Given the description of an element on the screen output the (x, y) to click on. 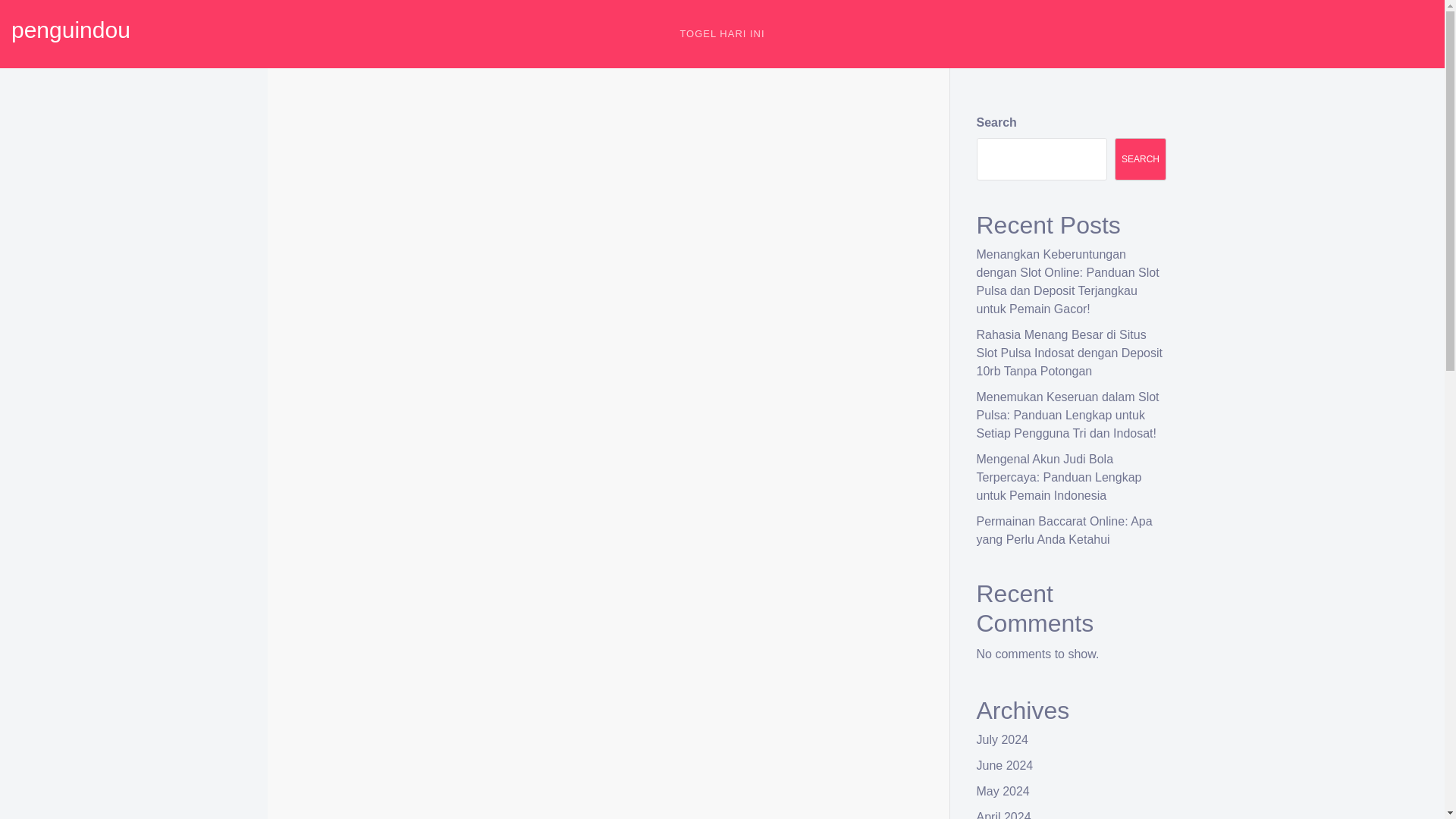
TOGEL HARI INI (722, 33)
June 2024 (1004, 765)
July 2024 (1002, 739)
Permainan Baccarat Online: Apa yang Perlu Anda Ketahui (1064, 530)
SEARCH (1140, 159)
togel hongkong (522, 816)
January 26, 2022 (349, 143)
April 2024 (1003, 814)
May 2024 (1002, 790)
penguindou (71, 29)
adminss (426, 143)
